Given the description of an element on the screen output the (x, y) to click on. 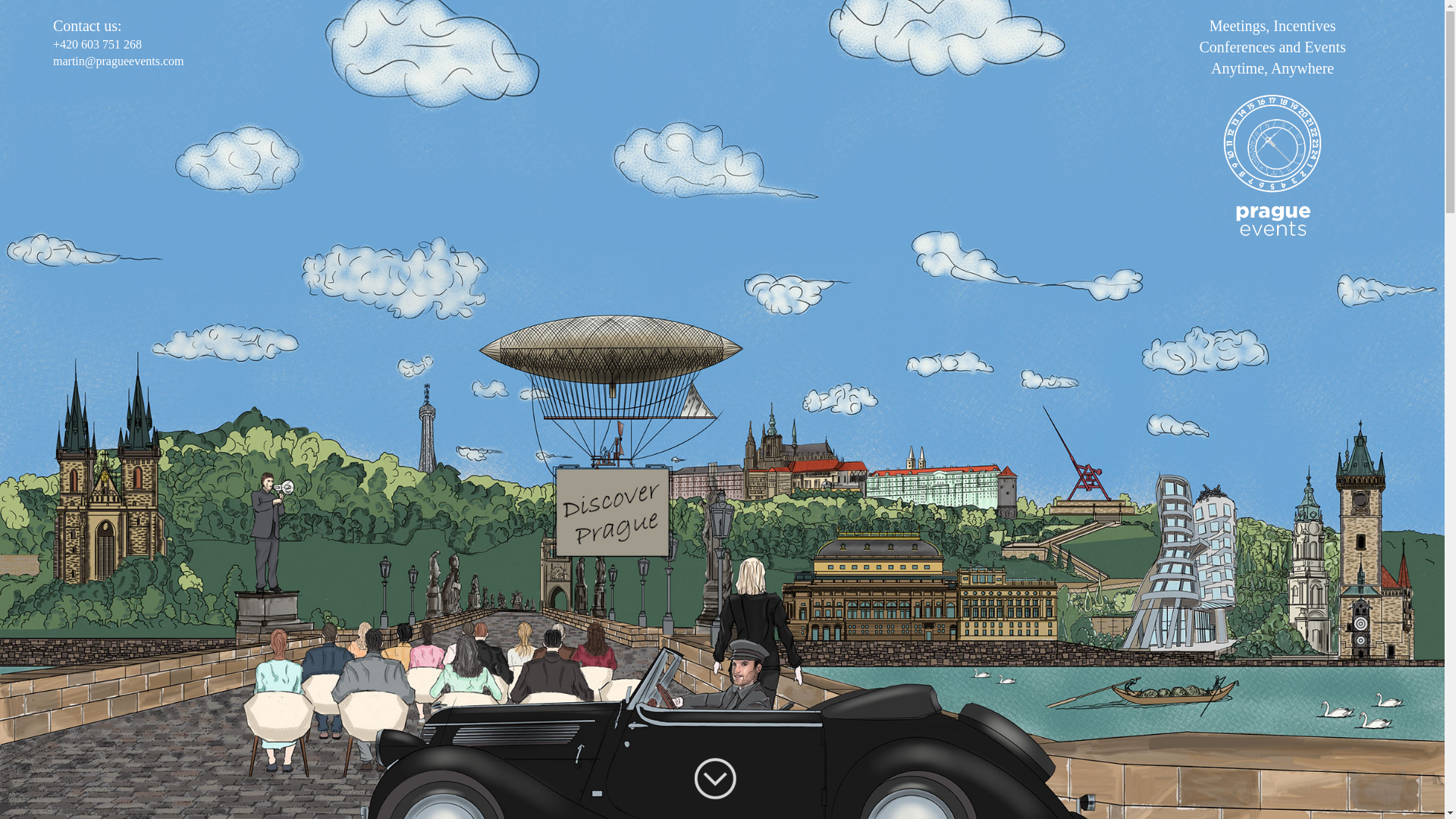
Contact us: (109, 25)
event management (53, 46)
conference planning (55, 20)
company meeting planner (66, 59)
incentive travel (44, 33)
